Given the description of an element on the screen output the (x, y) to click on. 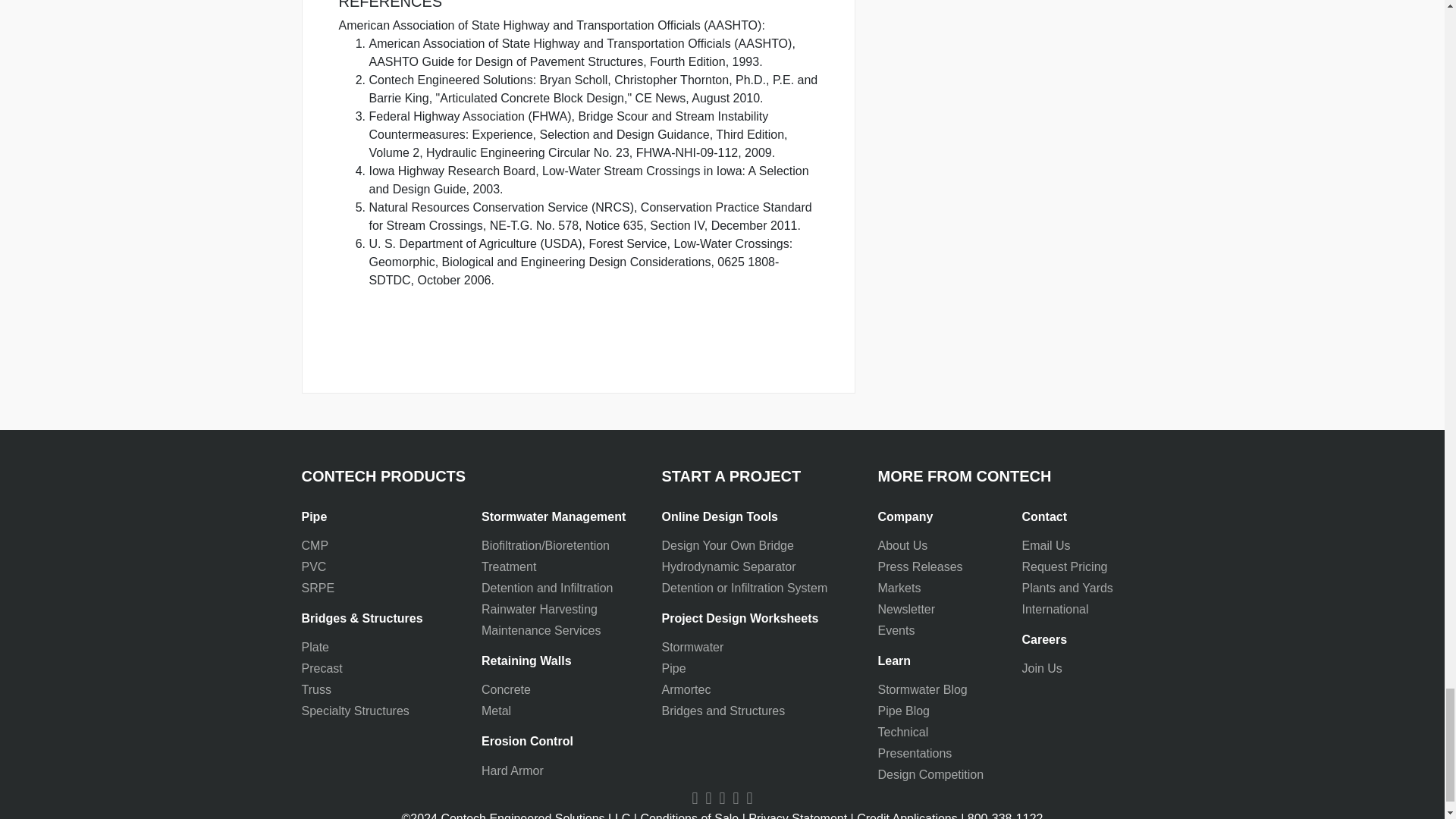
Instagram (749, 797)
Twitter (736, 797)
YouTube (694, 797)
LinkedIn (722, 797)
Facebook (707, 797)
